Given the description of an element on the screen output the (x, y) to click on. 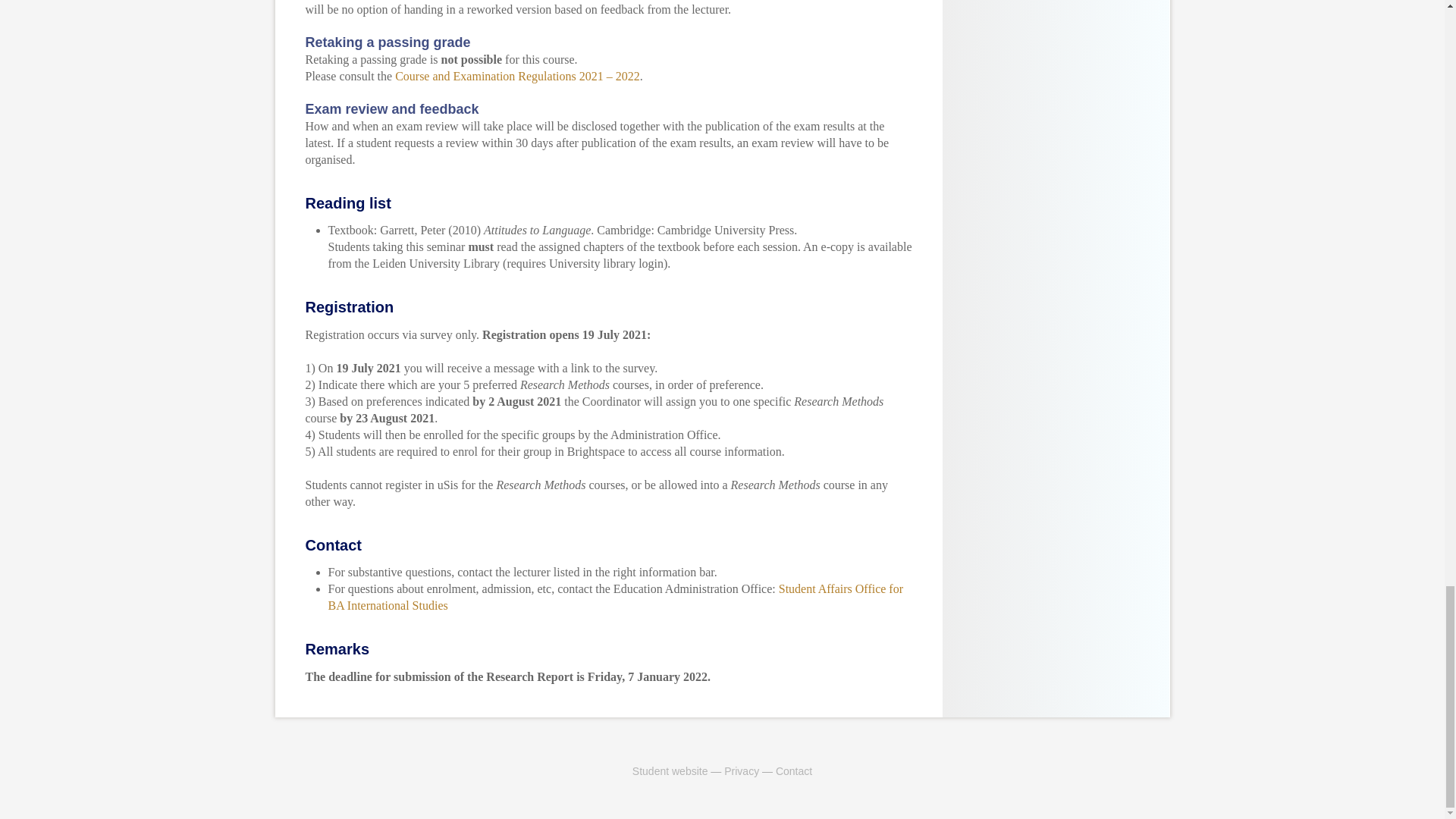
Student website (669, 770)
Contact (794, 770)
Privacy (740, 770)
Student Affairs Office for BA International Studies (614, 596)
